Given the description of an element on the screen output the (x, y) to click on. 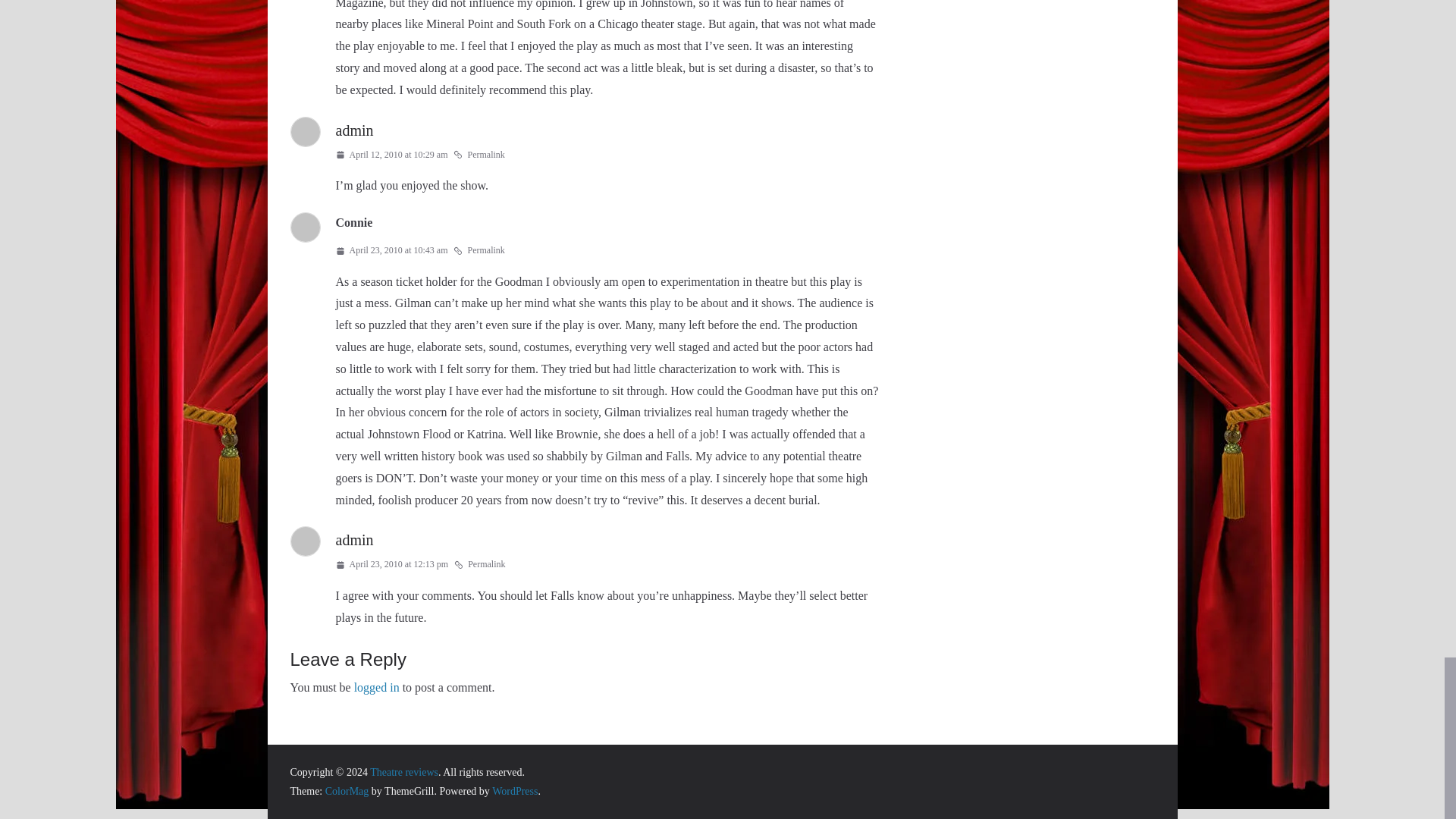
Permalink (479, 564)
admin (353, 130)
logged in (375, 686)
Permalink (477, 250)
Permalink (477, 155)
admin (353, 539)
